Given the description of an element on the screen output the (x, y) to click on. 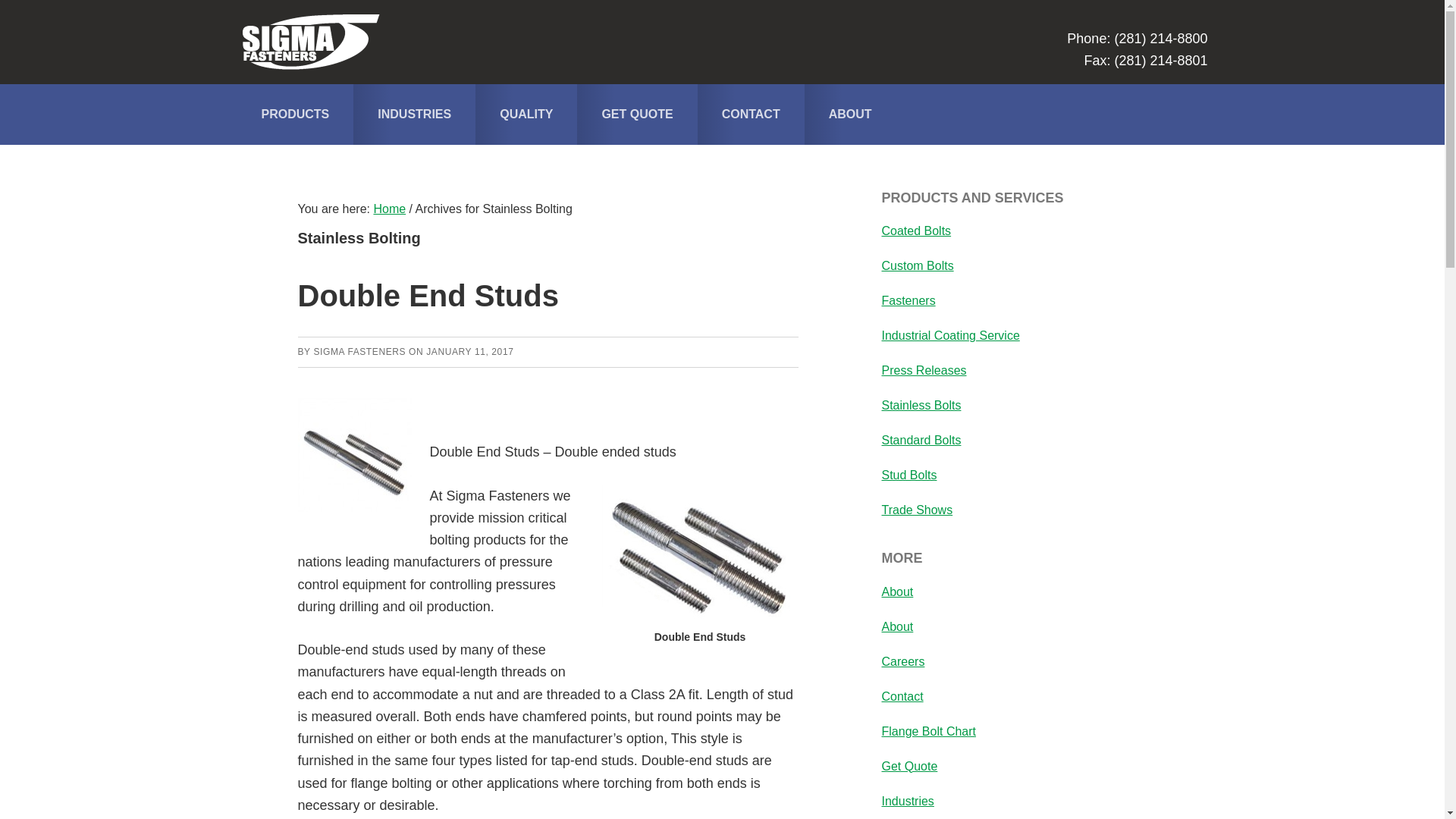
About (896, 626)
About (896, 591)
Double End Studs (699, 553)
Trade Shows (916, 509)
Stud Bolts (908, 474)
ABOUT (850, 113)
INDUSTRIES (414, 113)
CONTACT (751, 113)
SIGMA FASTENERS (359, 350)
